Given the description of an element on the screen output the (x, y) to click on. 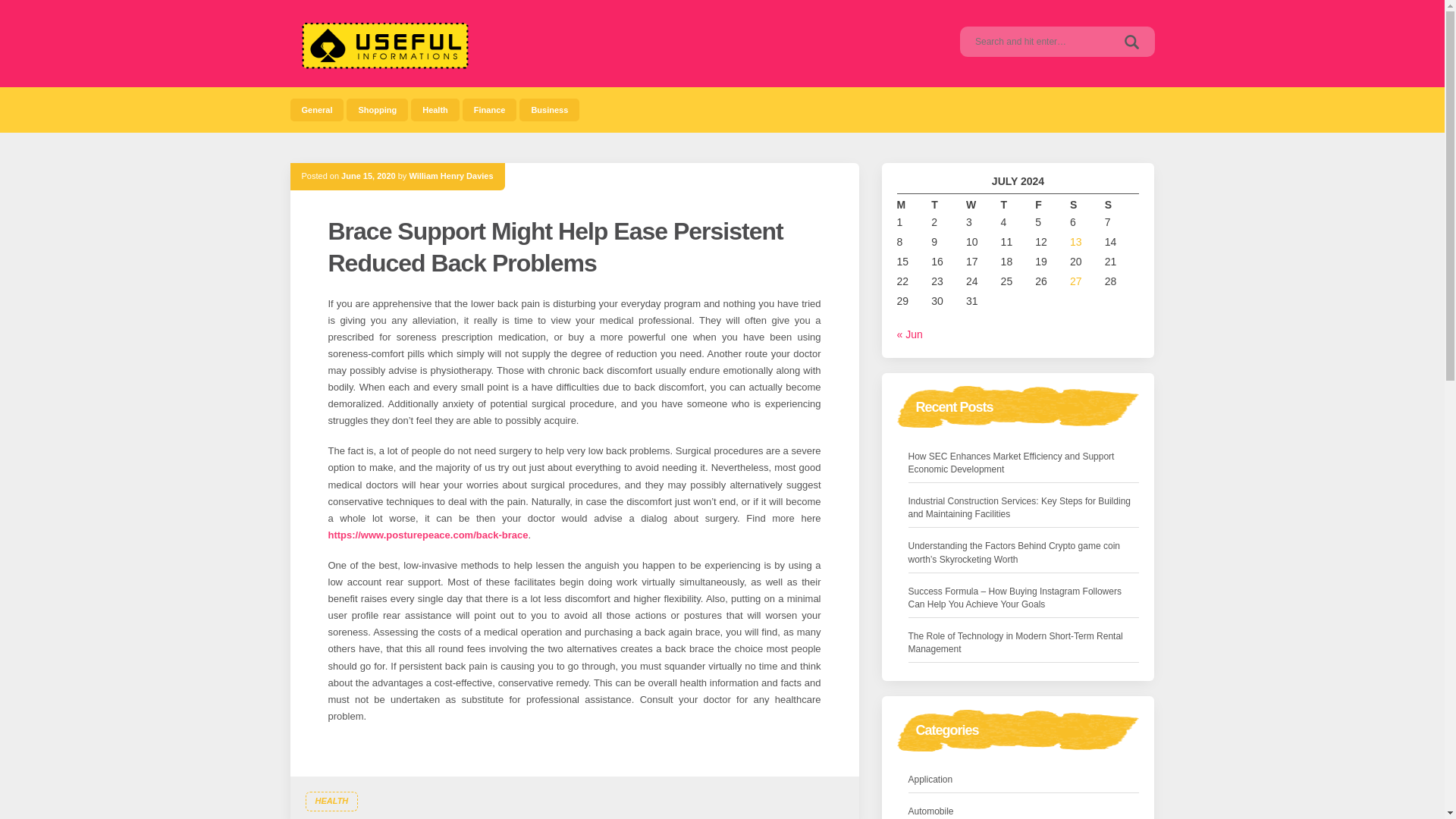
13 (1075, 241)
Health (435, 109)
Sunday (1122, 205)
Wednesday (983, 205)
Search (1131, 41)
27 (1075, 281)
Application (930, 779)
Health (435, 109)
Thursday (1018, 205)
Business (549, 109)
Automobile (930, 811)
June 15, 2020 (368, 175)
Search (1131, 41)
Saturday (1087, 205)
